Given the description of an element on the screen output the (x, y) to click on. 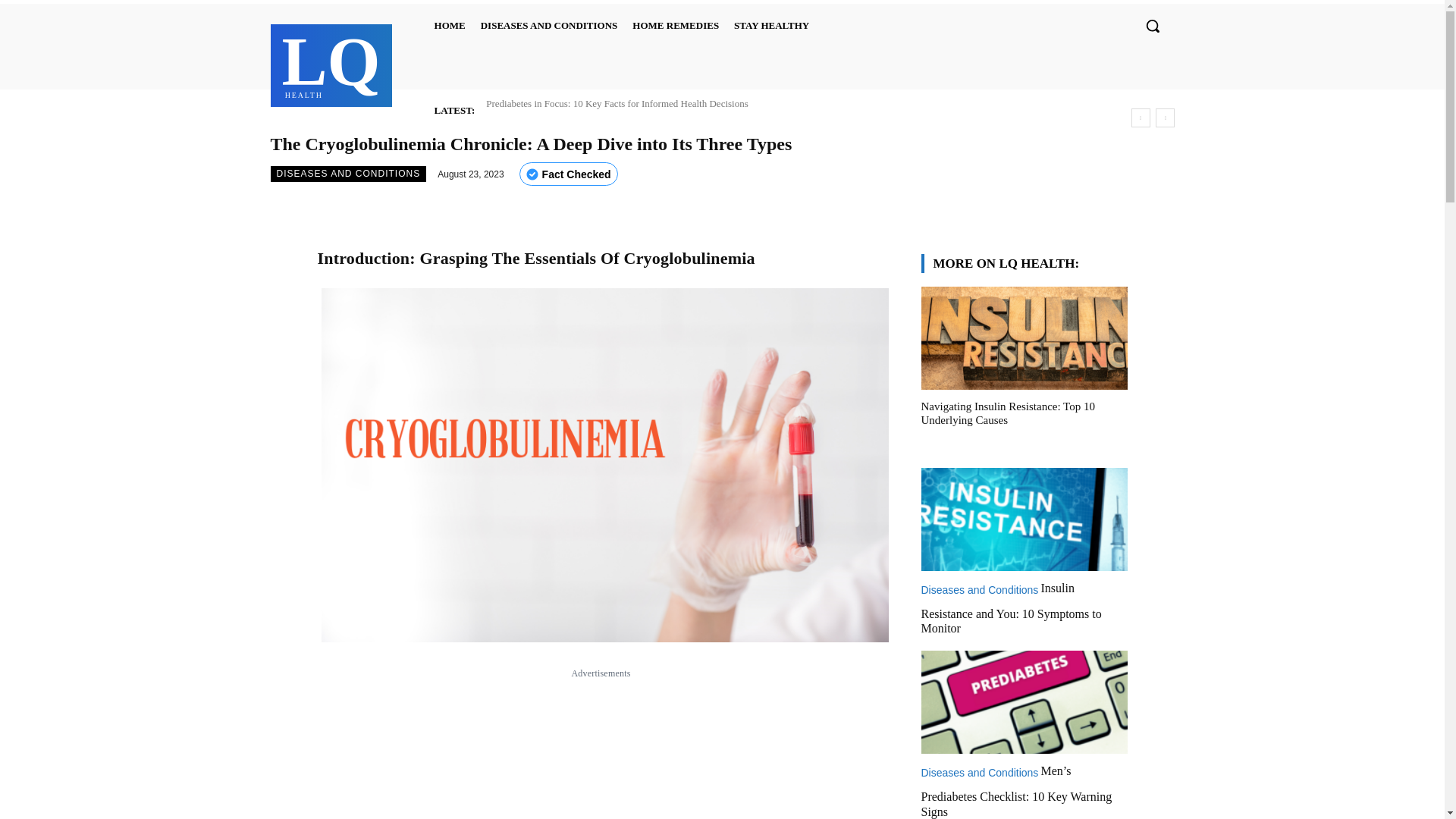
DISEASES AND CONDITIONS (331, 63)
STAY HEALTHY (549, 25)
DISEASES AND CONDITIONS (771, 25)
HOME REMEDIES (347, 173)
HOME (675, 25)
